Given the description of an element on the screen output the (x, y) to click on. 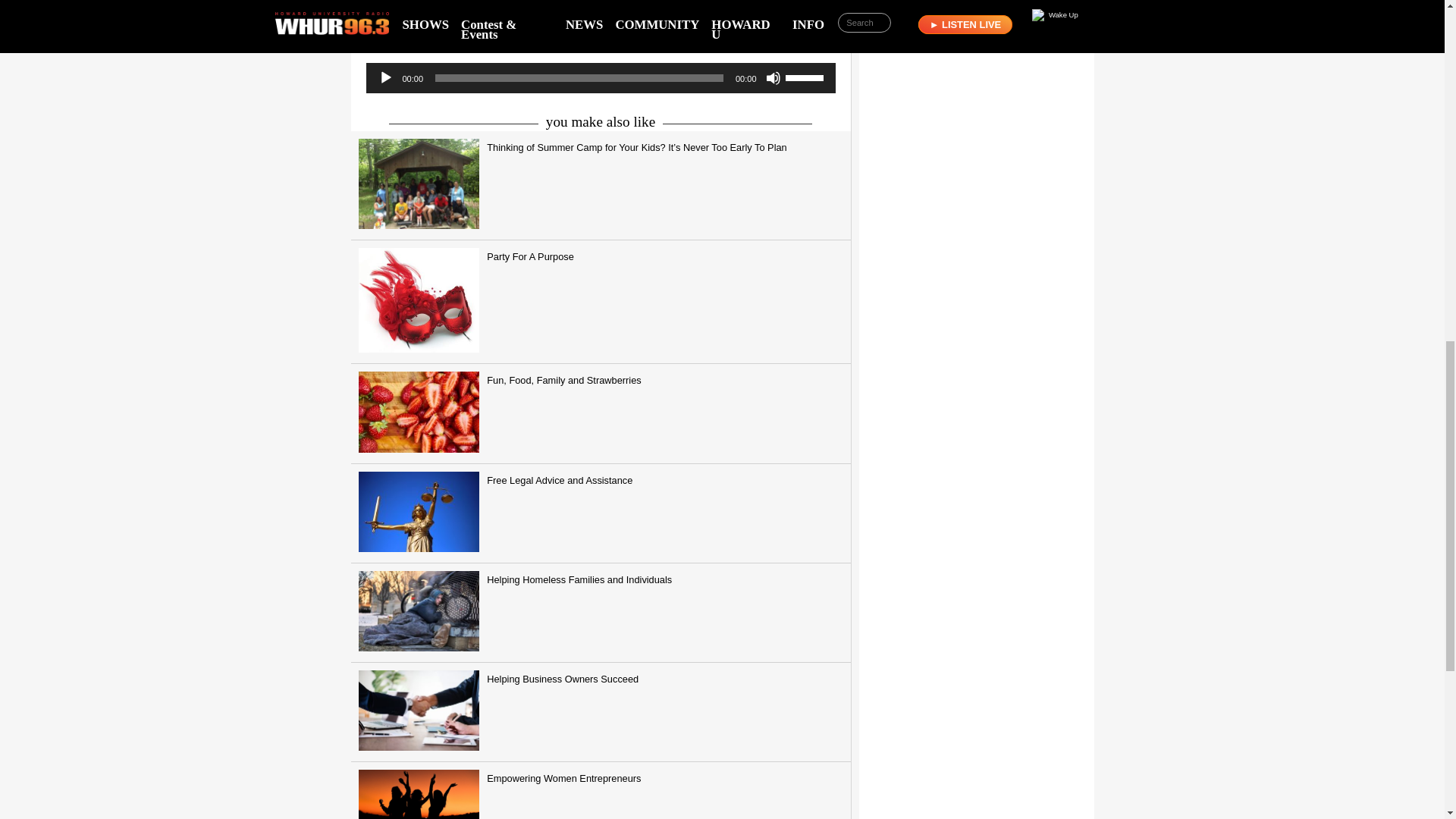
Helping Homeless Families and Individuals (600, 612)
Mute (772, 77)
Party For A Purpose (600, 301)
Fun, Food, Family and Strawberries (600, 413)
Play (385, 77)
Empowering Women Entrepreneurs (600, 790)
Free Legal Advice and Assistance (600, 513)
Helping Business Owners Succeed (600, 712)
